Given the description of an element on the screen output the (x, y) to click on. 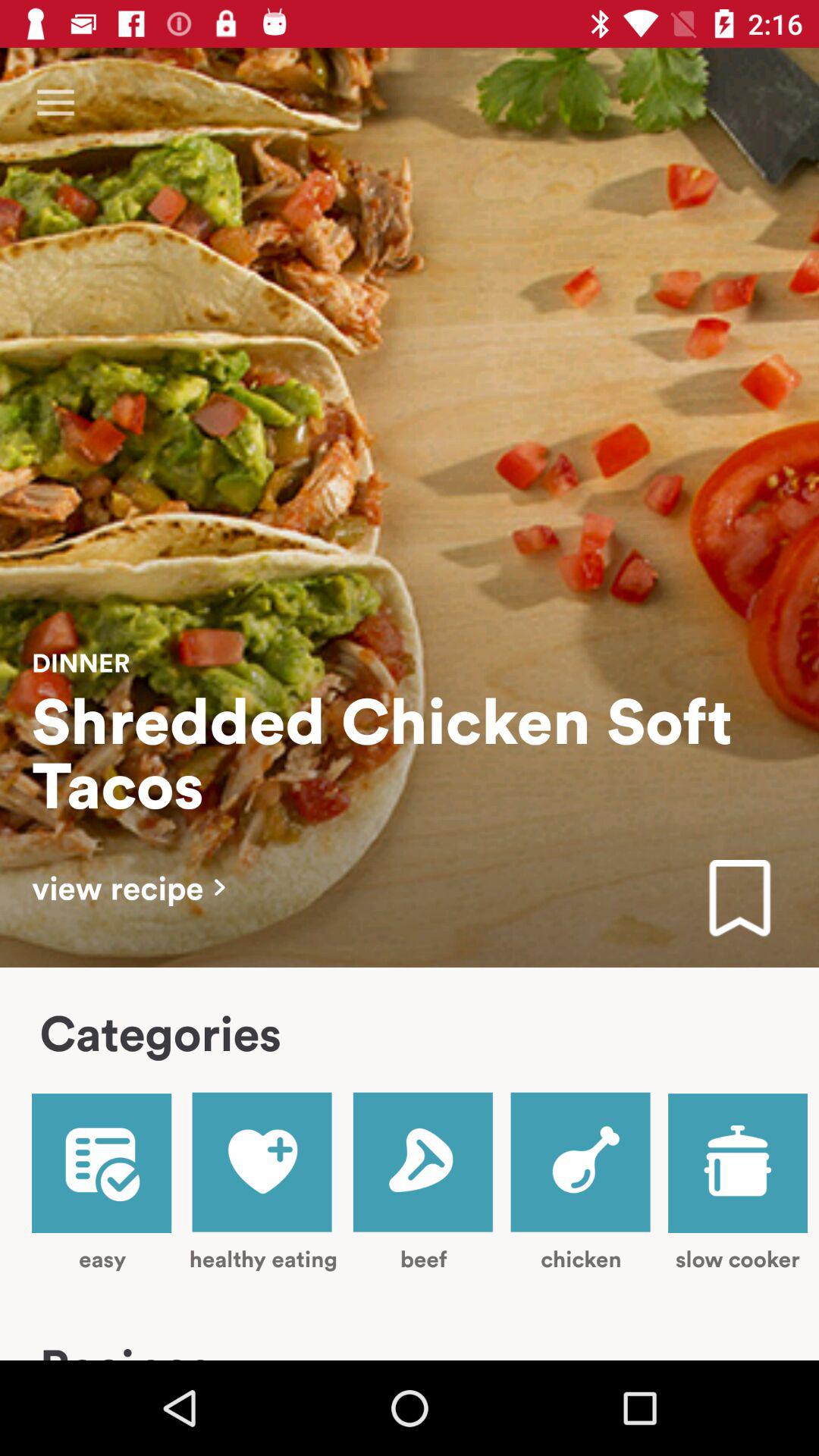
launch icon next to beef (263, 1181)
